Given the description of an element on the screen output the (x, y) to click on. 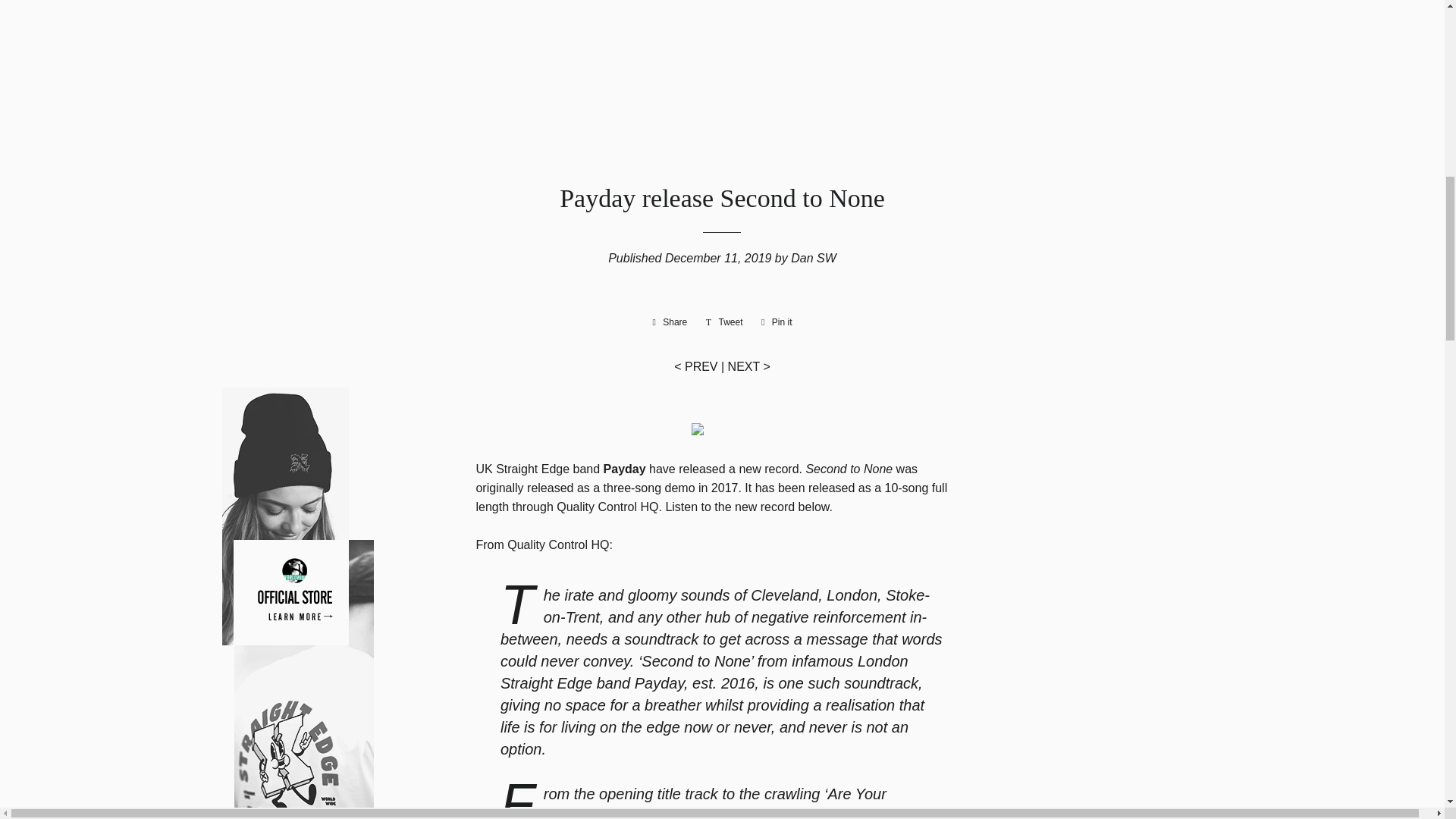
Share on Facebook (669, 321)
Pin on Pinterest (776, 321)
Tweet on Twitter (724, 321)
